Given the description of an element on the screen output the (x, y) to click on. 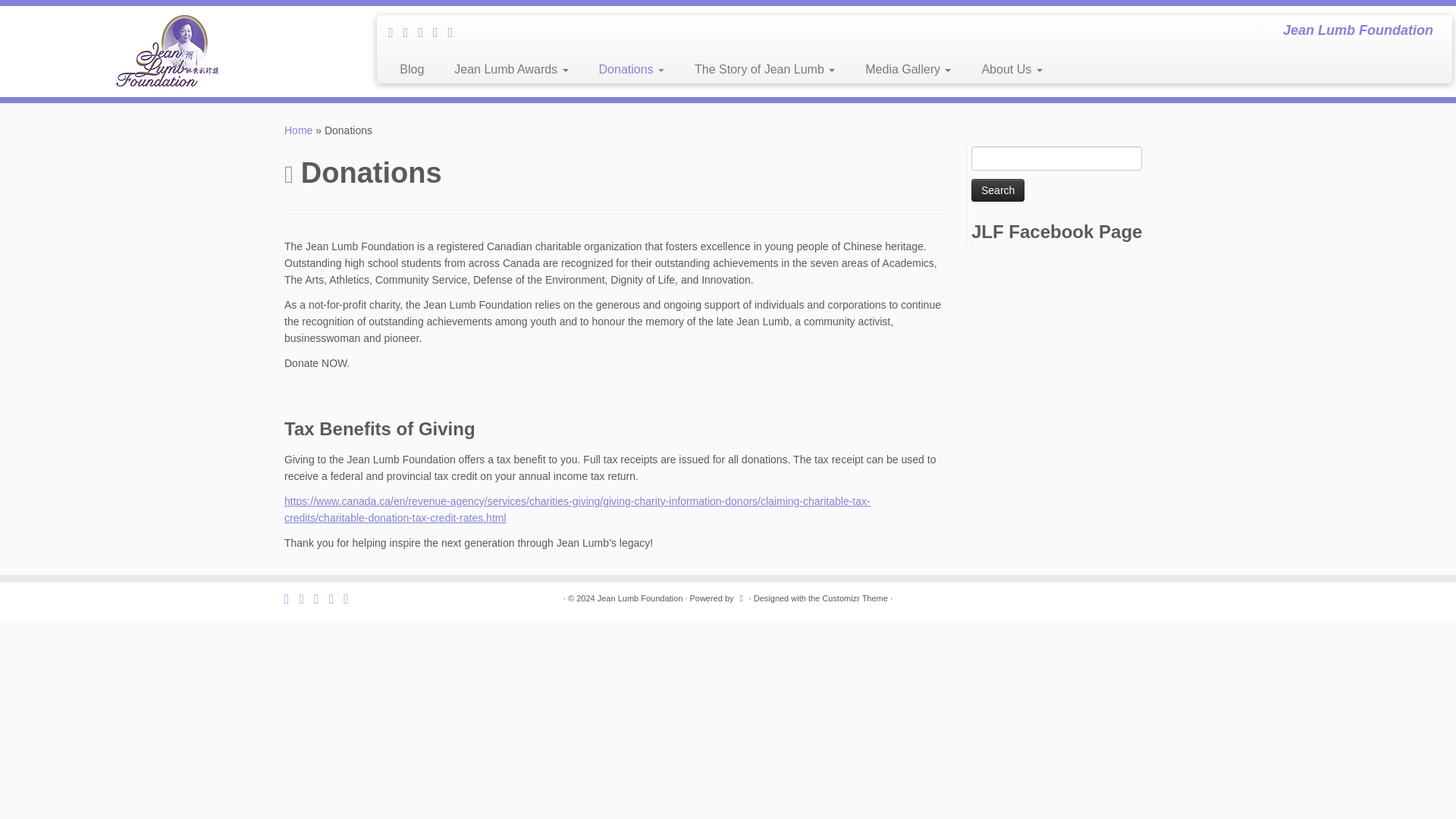
The Story of Jean Lumb (764, 69)
Follow me on Facebook (411, 32)
Follow us on Twitter-square (395, 32)
About Us (1004, 69)
Blog (411, 69)
Follow us on Youtube (455, 32)
Home (298, 130)
Search (998, 190)
Follow me on LinkedIn (424, 32)
Donations (631, 69)
